Given the description of an element on the screen output the (x, y) to click on. 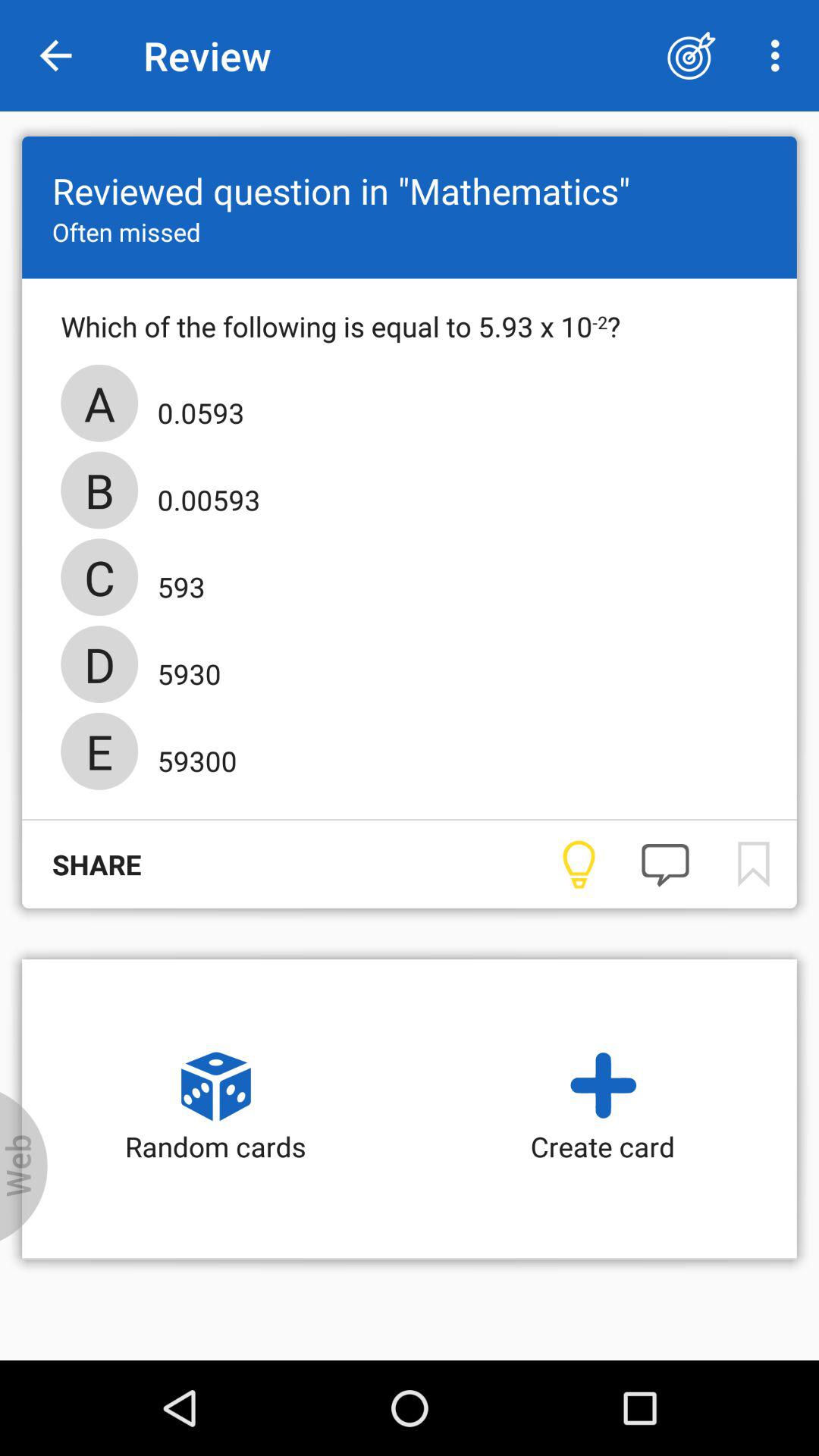
open the icon above the share (192, 755)
